Given the description of an element on the screen output the (x, y) to click on. 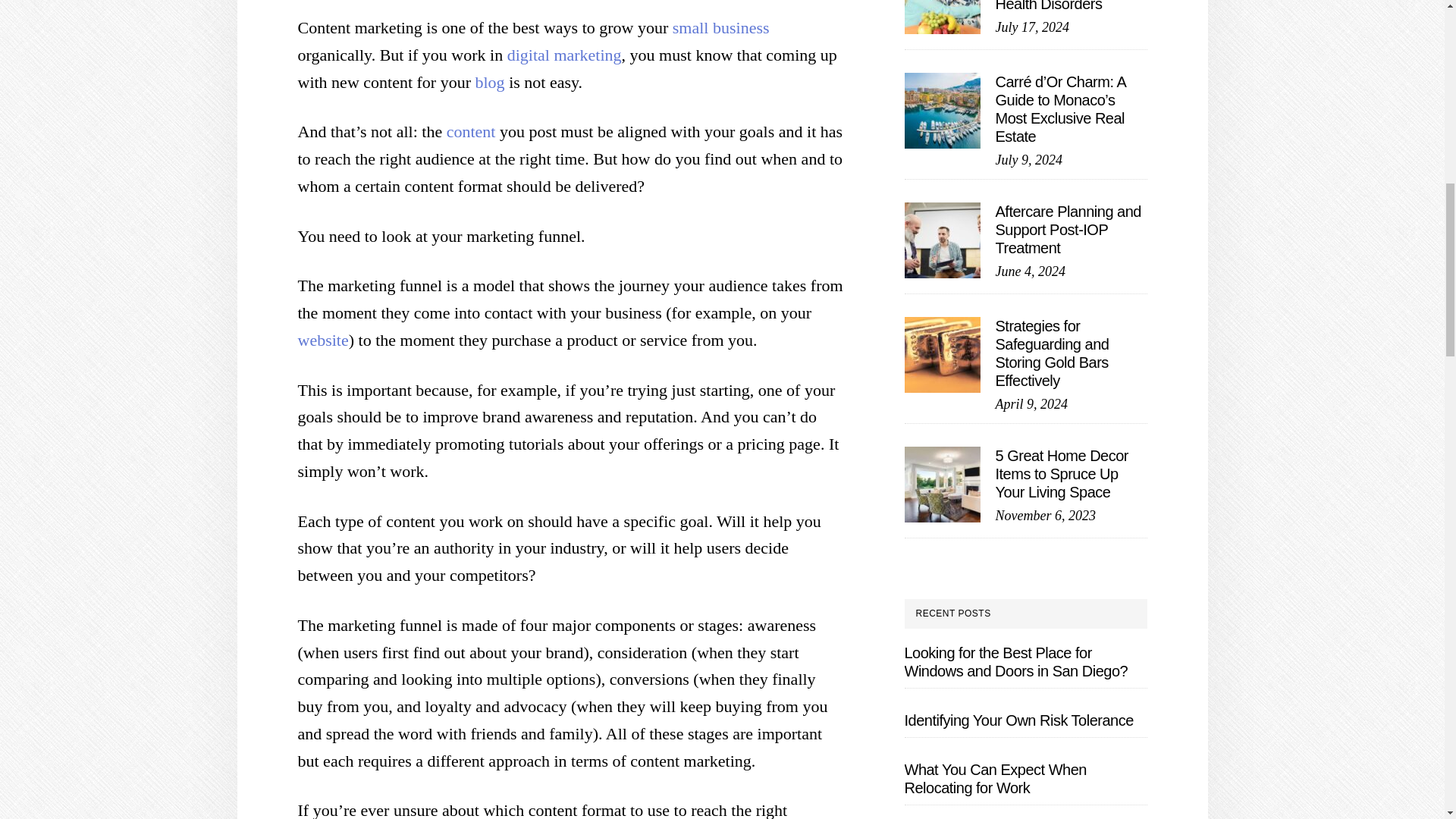
blog (488, 81)
The Influence of Genetics on Mental Health Disorders (1056, 6)
small business (721, 27)
digital marketing (563, 54)
What You Can Expect When Relocating for Work (995, 778)
website (322, 339)
content (471, 131)
Identifying Your Own Risk Tolerance (1018, 719)
5 Great Home Decor Items to Spruce Up Your Living Space (1061, 473)
